Given the description of an element on the screen output the (x, y) to click on. 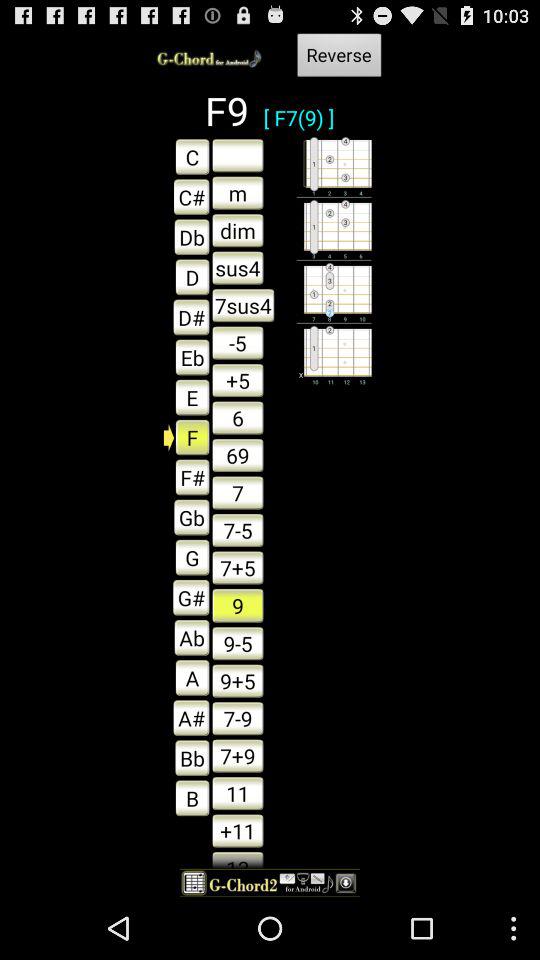
open the icon to the right of the d (243, 305)
